Given the description of an element on the screen output the (x, y) to click on. 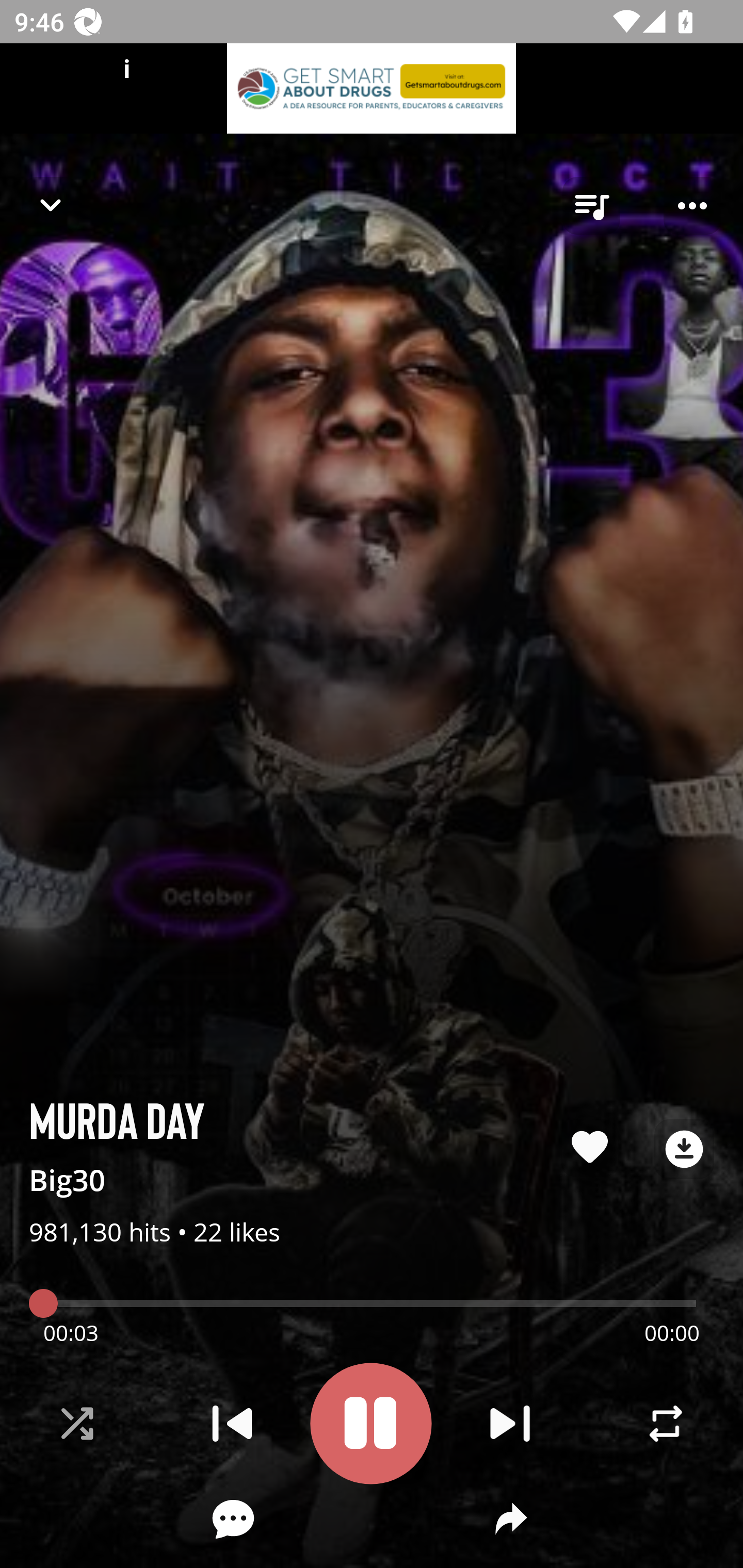
Navigate up (50, 205)
queue (590, 206)
Player options (692, 206)
